Given the description of an element on the screen output the (x, y) to click on. 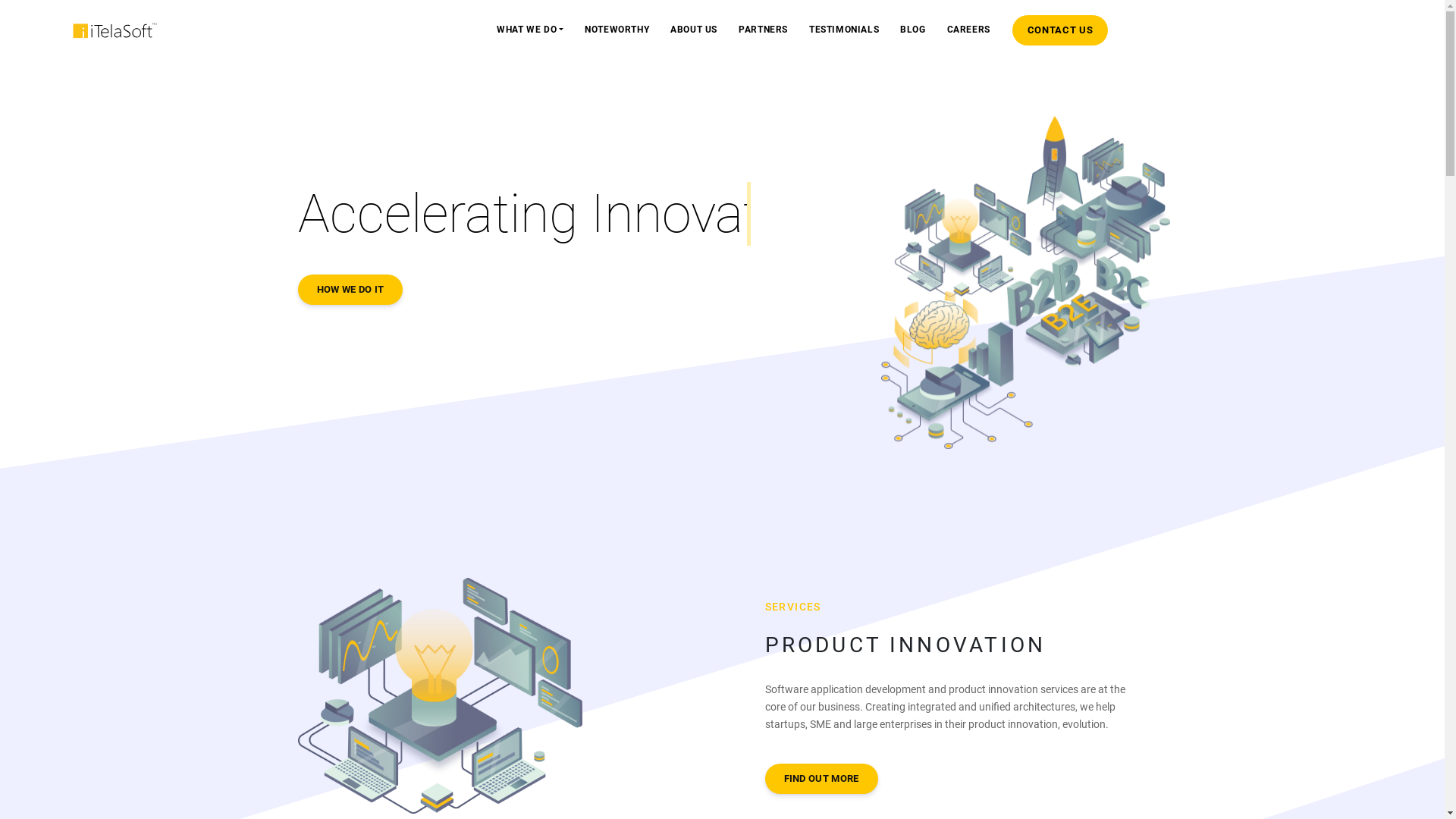
PARTNERS Element type: text (763, 29)
ABOUT US Element type: text (693, 29)
CONTACT US Element type: text (1060, 30)
FIND OUT MORE Element type: text (820, 778)
NOTEWORTHY Element type: text (616, 29)
TESTIMONIALS Element type: text (843, 29)
WHAT WE DO Element type: text (530, 29)
CAREERS Element type: text (968, 29)
HOW WE DO IT Element type: text (349, 289)
BLOG Element type: text (912, 29)
